Given the description of an element on the screen output the (x, y) to click on. 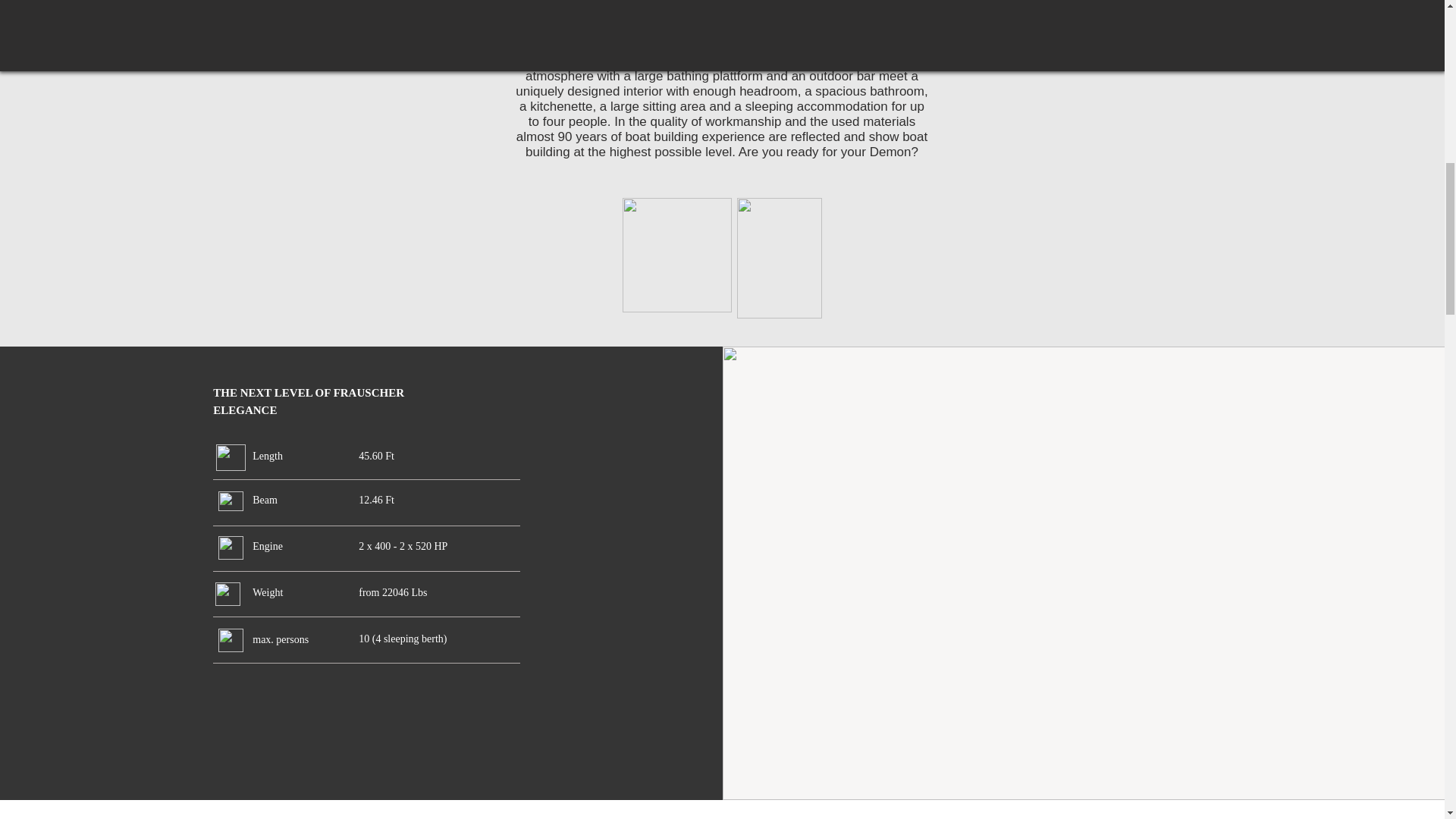
people.png (230, 639)
beam.png (230, 501)
length.png (230, 457)
weight.png (227, 594)
engine.png (230, 547)
